Given the description of an element on the screen output the (x, y) to click on. 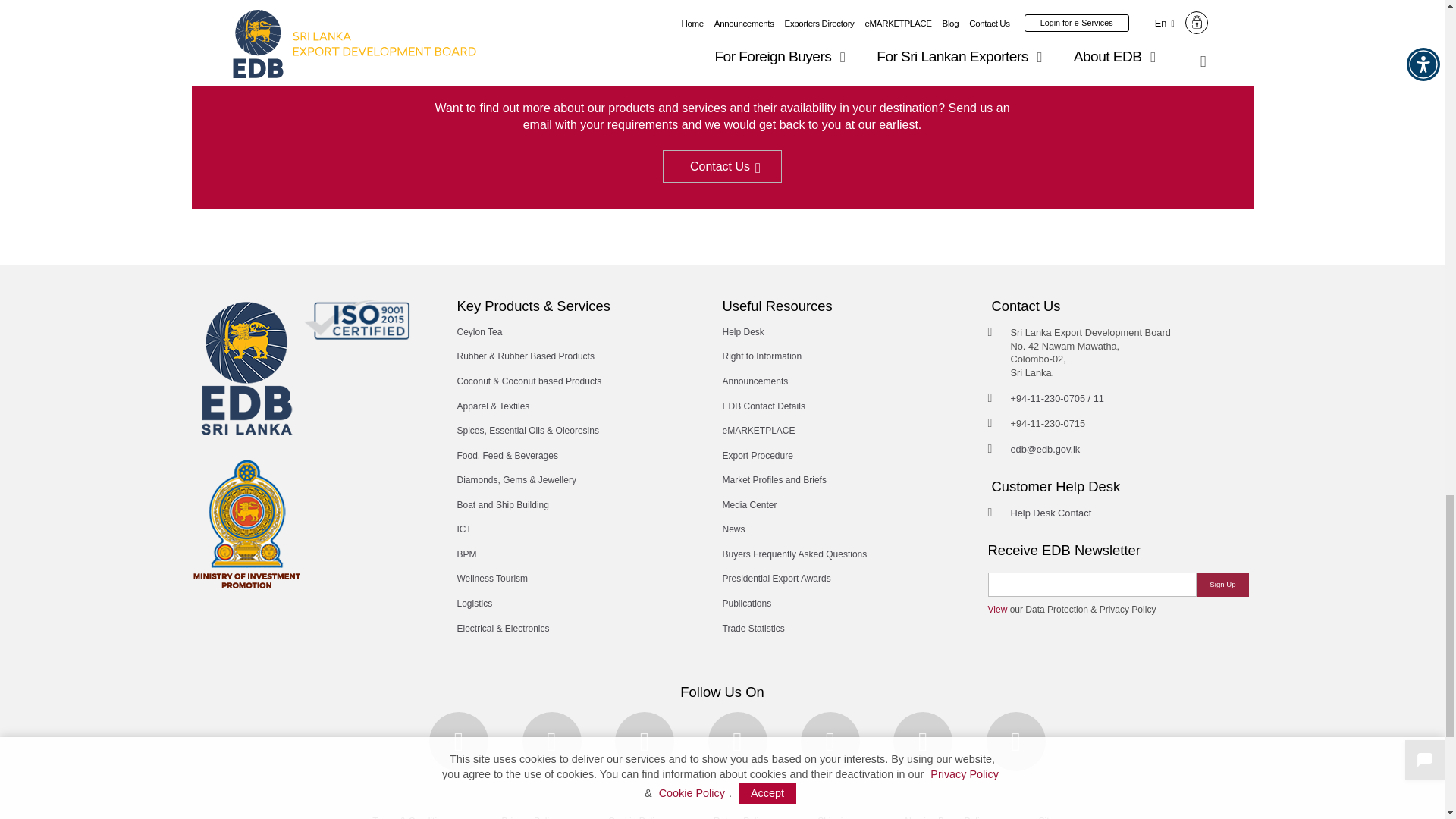
Contact Us (721, 165)
